Given the description of an element on the screen output the (x, y) to click on. 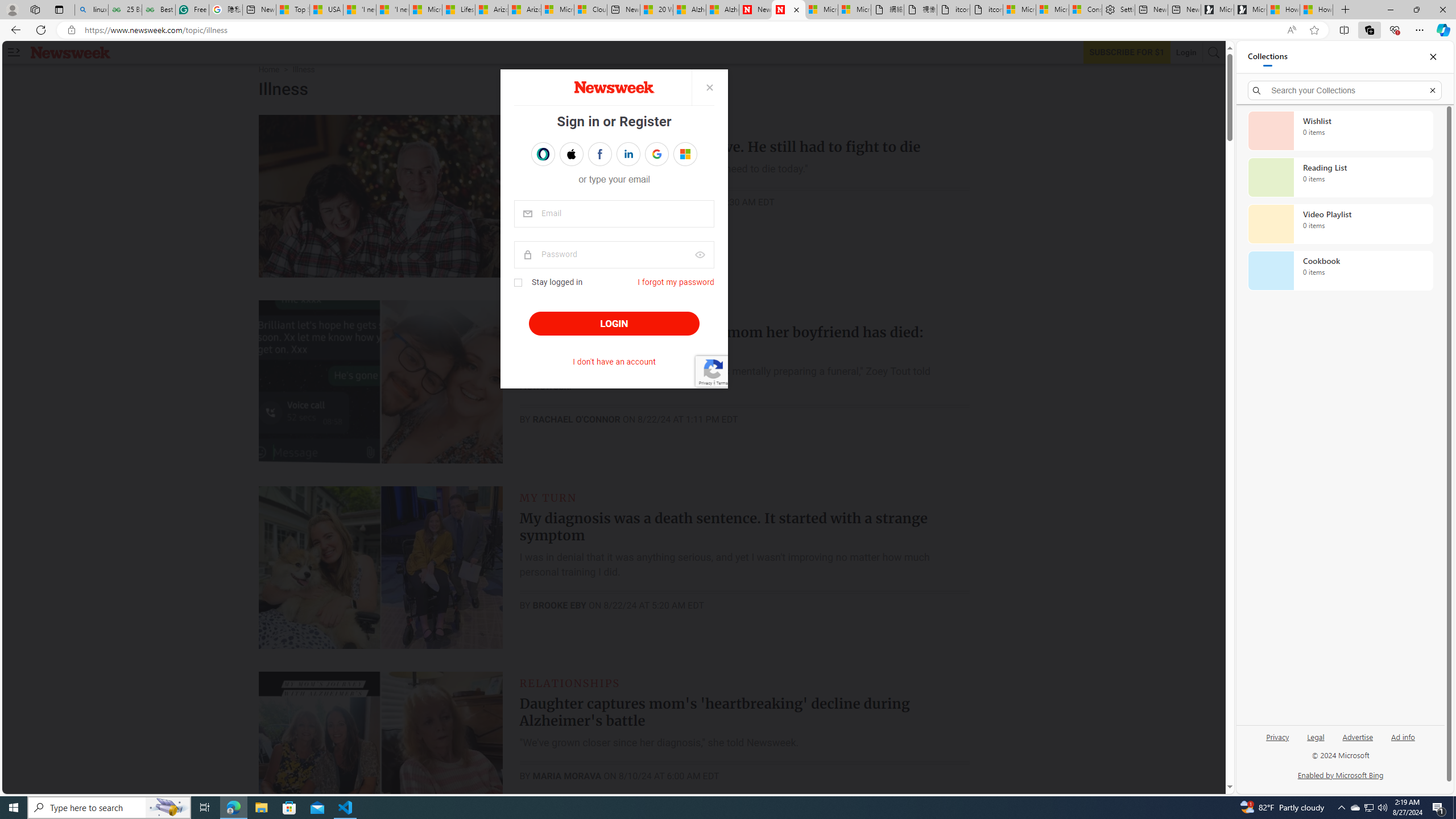
LOGIN (613, 323)
password (613, 254)
20 Ways to Boost Your Protein Intake at Every Meal (656, 9)
Login (1186, 51)
AutomationID: side-arrow (13, 51)
